Given the description of an element on the screen output the (x, y) to click on. 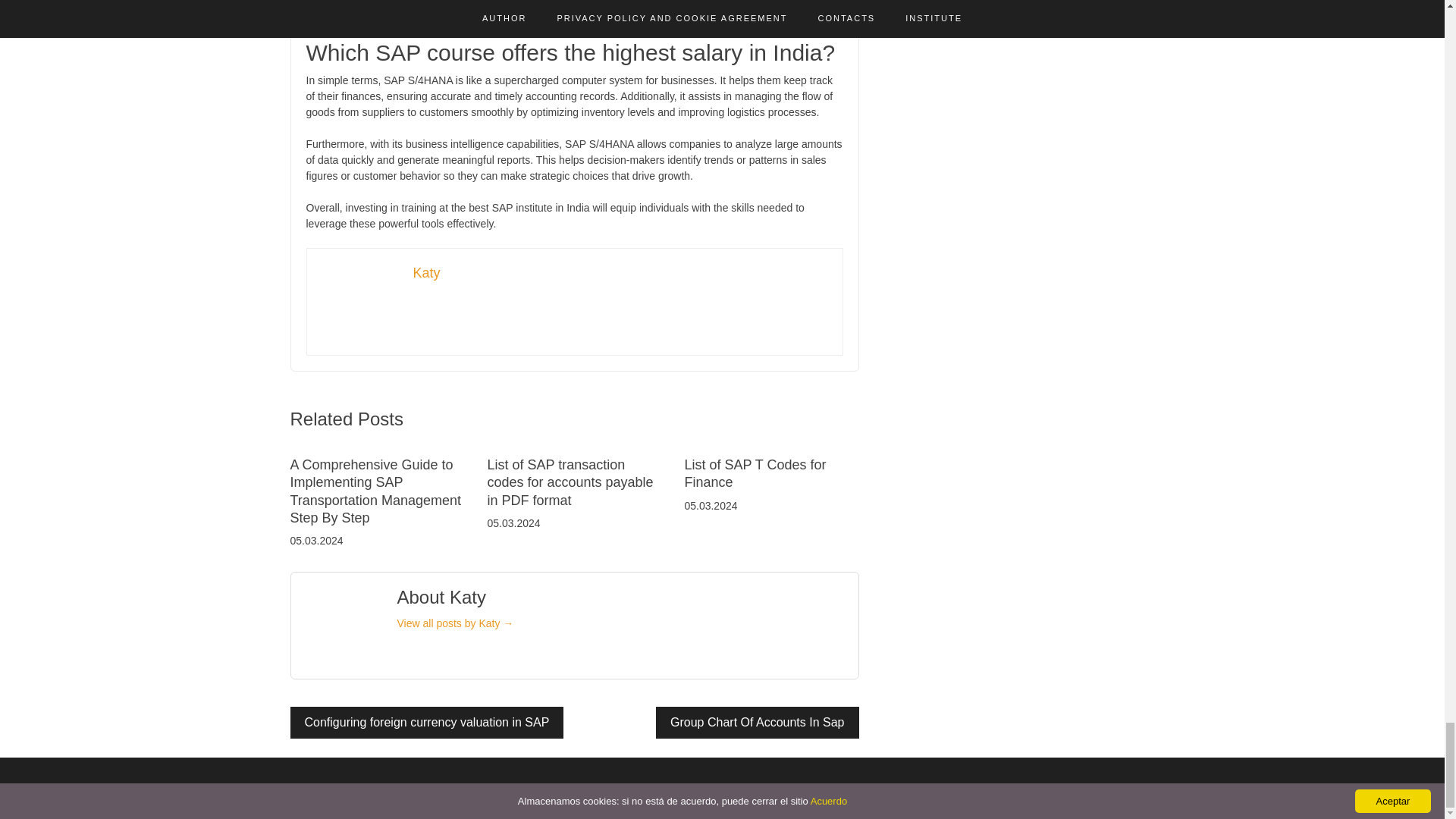
Group Chart Of Accounts In Sap (757, 722)
Configuring foreign currency valuation in SAP (426, 722)
Katy (425, 272)
List of SAP T Codes for Finance (754, 473)
